Given the description of an element on the screen output the (x, y) to click on. 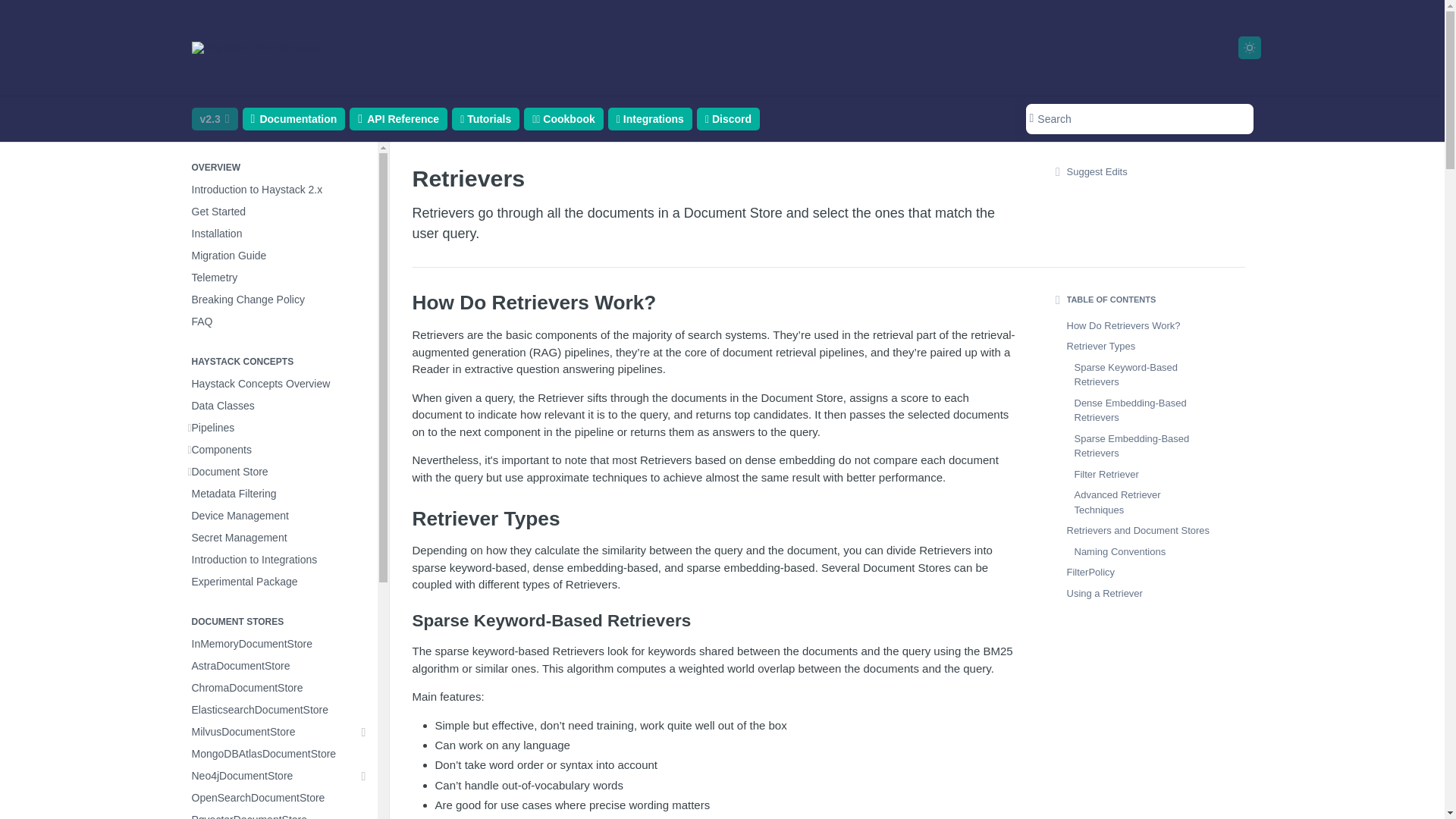
Documentation (294, 118)
v2.3 (213, 118)
Migration Guide (277, 255)
Components (277, 449)
Sparse Keyword-Based Retrievers (715, 620)
Breaking Change Policy (277, 299)
API Reference (397, 118)
Haystack Concepts Overview (277, 383)
Pipelines (277, 427)
Data Classes (277, 405)
